Given the description of an element on the screen output the (x, y) to click on. 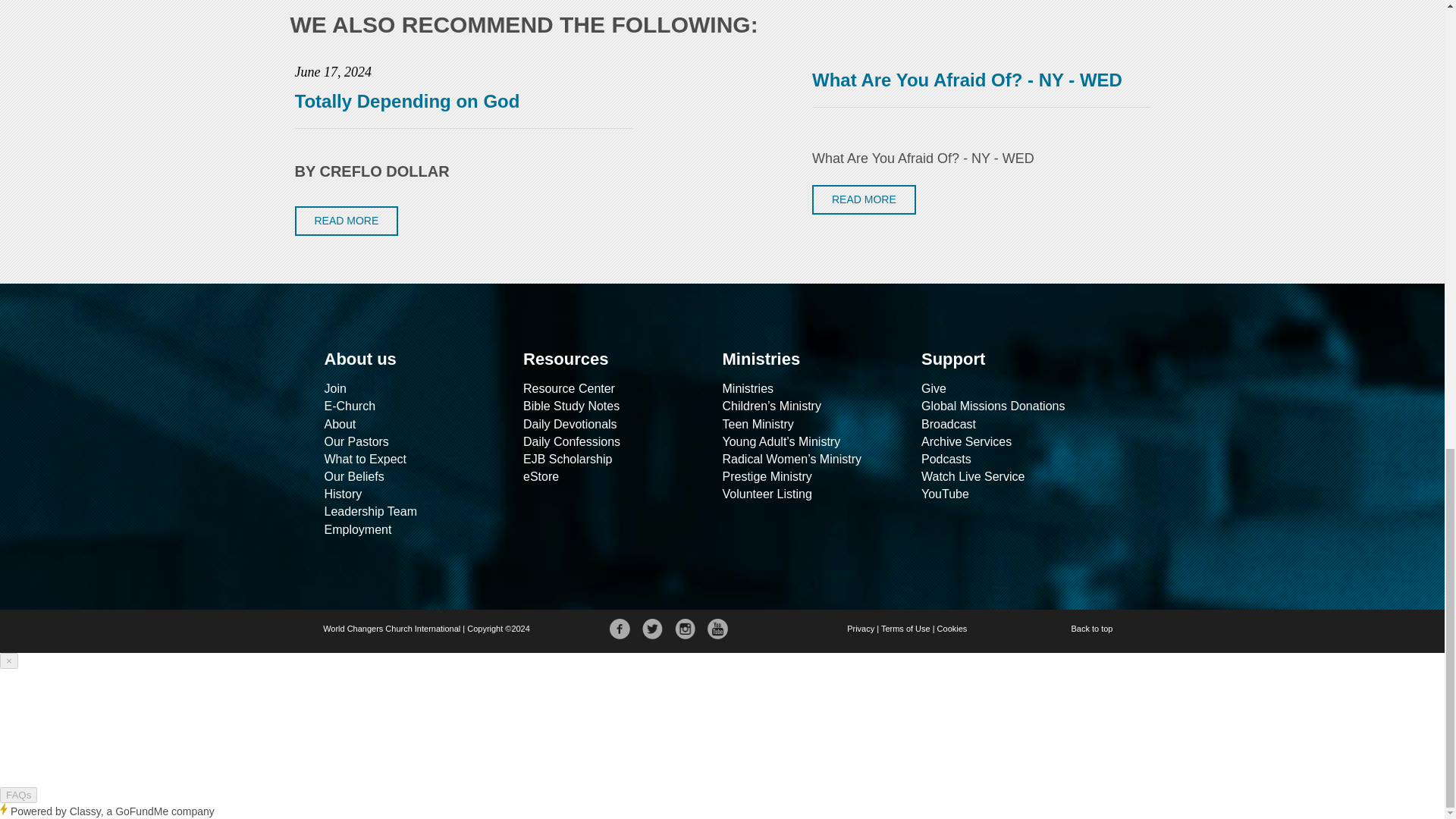
Join us on Facebook (620, 629)
Follow us on Instagram (685, 629)
Follow us on Twitter (652, 629)
Watch us on YouTube (717, 629)
